Given the description of an element on the screen output the (x, y) to click on. 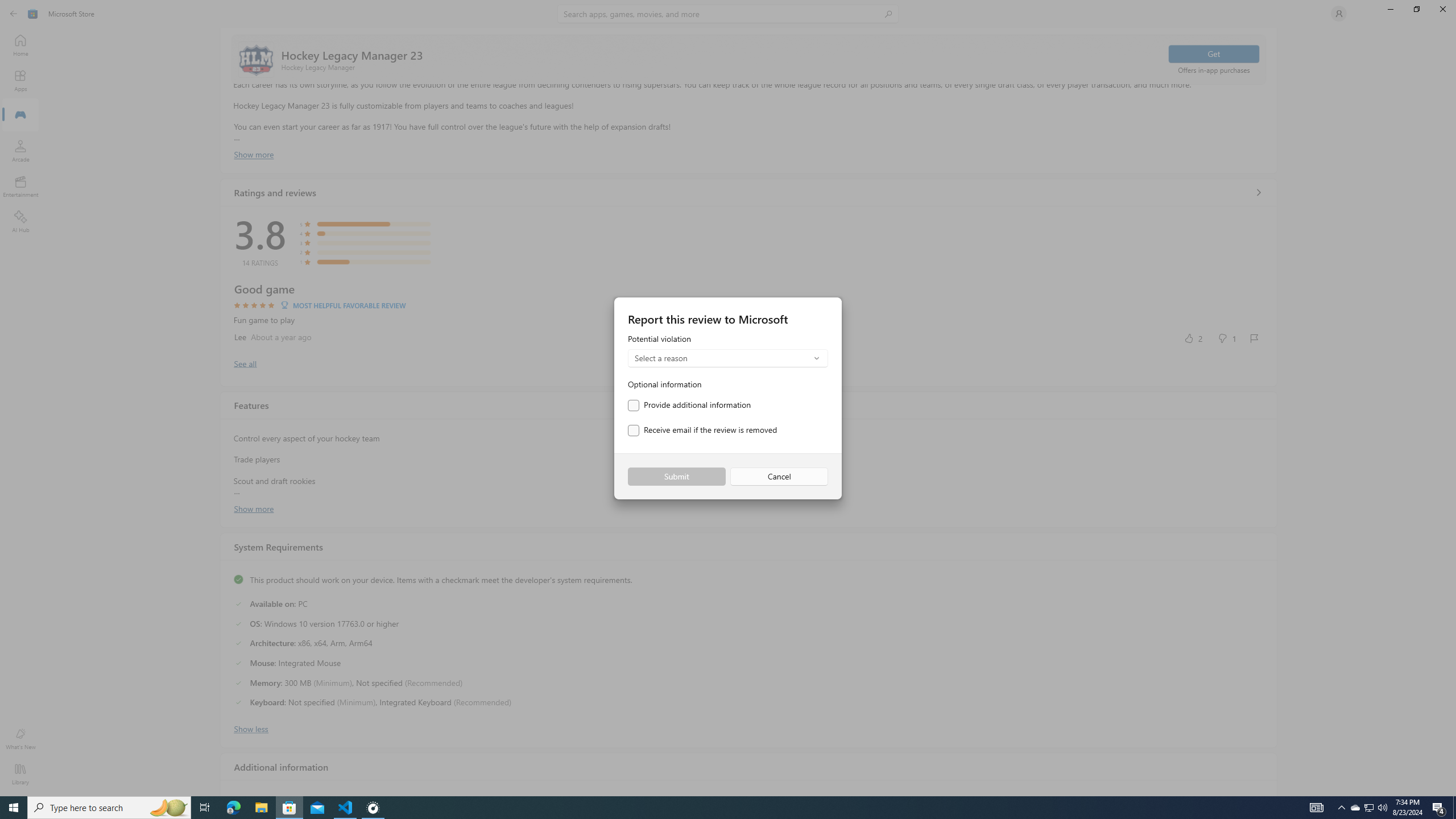
Receive email if the review is removed (702, 430)
Entertainment (20, 185)
User profile (1338, 13)
AI Hub (20, 221)
Submit (676, 476)
What's New (20, 738)
Provide additional information (689, 405)
Search (727, 13)
Show less (250, 728)
Class: Image (32, 13)
Home (20, 45)
Library (20, 773)
Yes, this was helpful. 2 votes. (1192, 338)
Cancel (779, 476)
Back (13, 13)
